Given the description of an element on the screen output the (x, y) to click on. 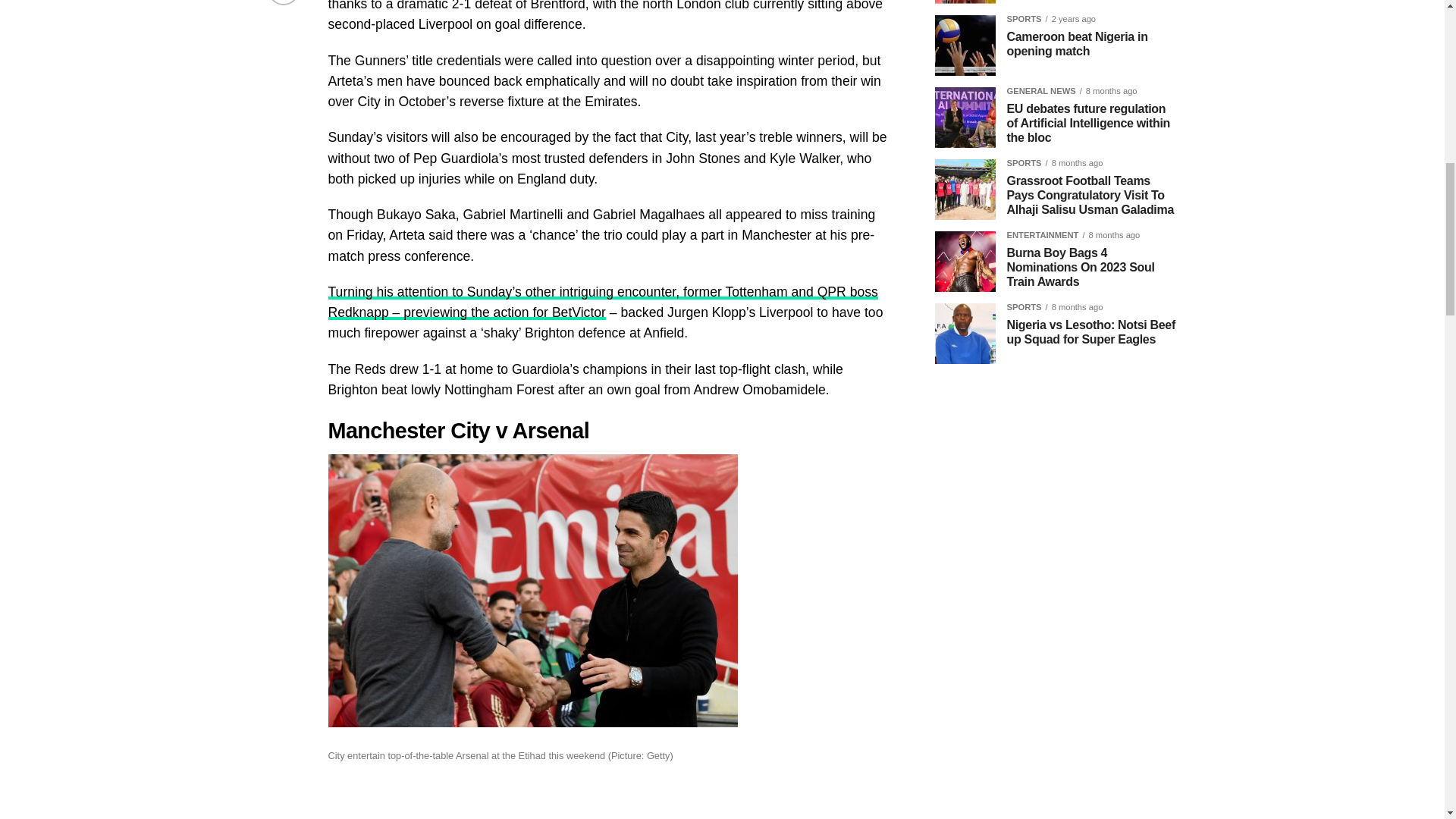
Advertisement (1055, 481)
Advertisement (1055, 815)
Advertisement (1055, 693)
